Given the description of an element on the screen output the (x, y) to click on. 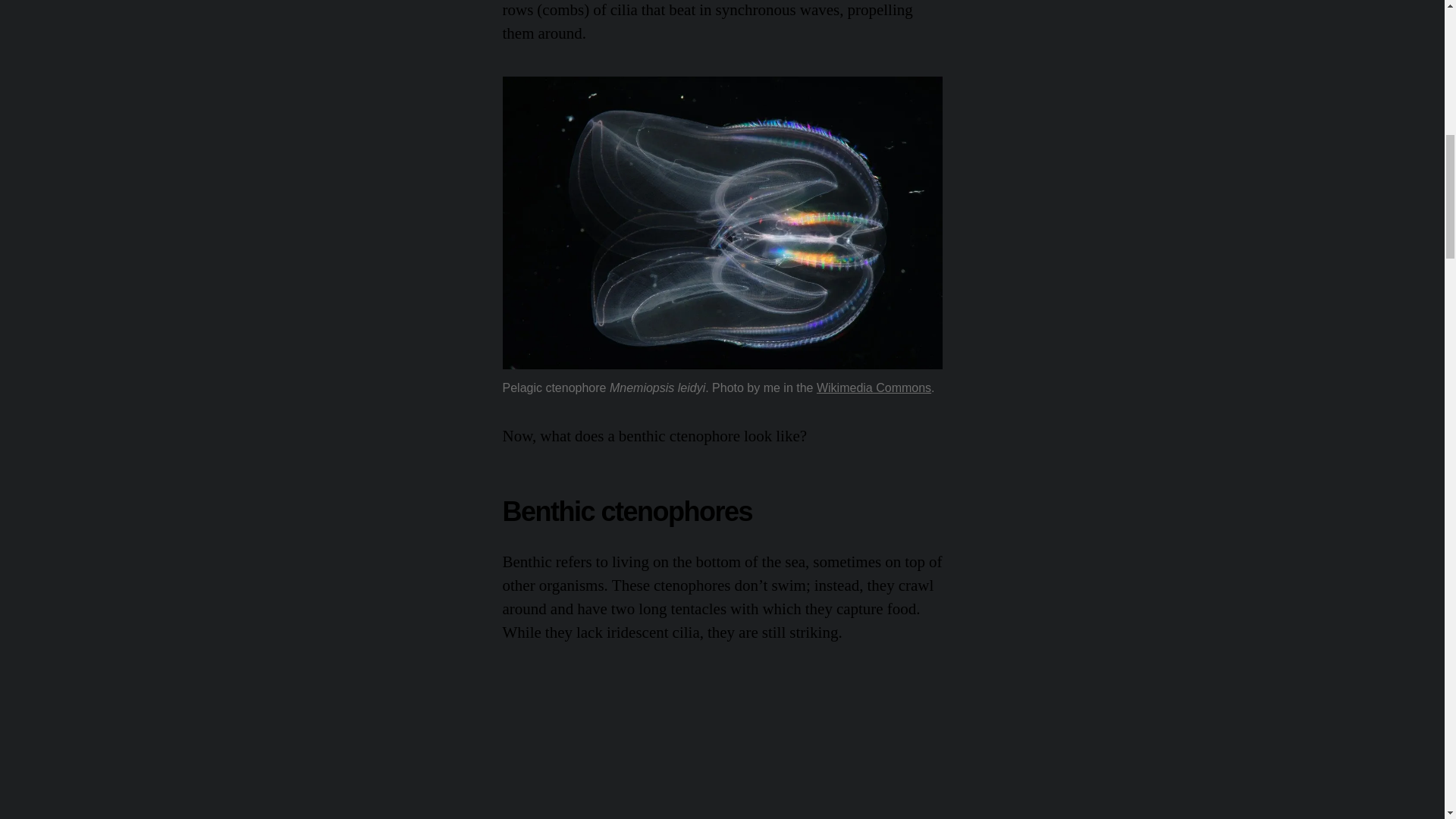
Morning encounter with a benthic ctenophore 1 (722, 222)
Morning encounter with a benthic ctenophore 2 (722, 747)
